Given the description of an element on the screen output the (x, y) to click on. 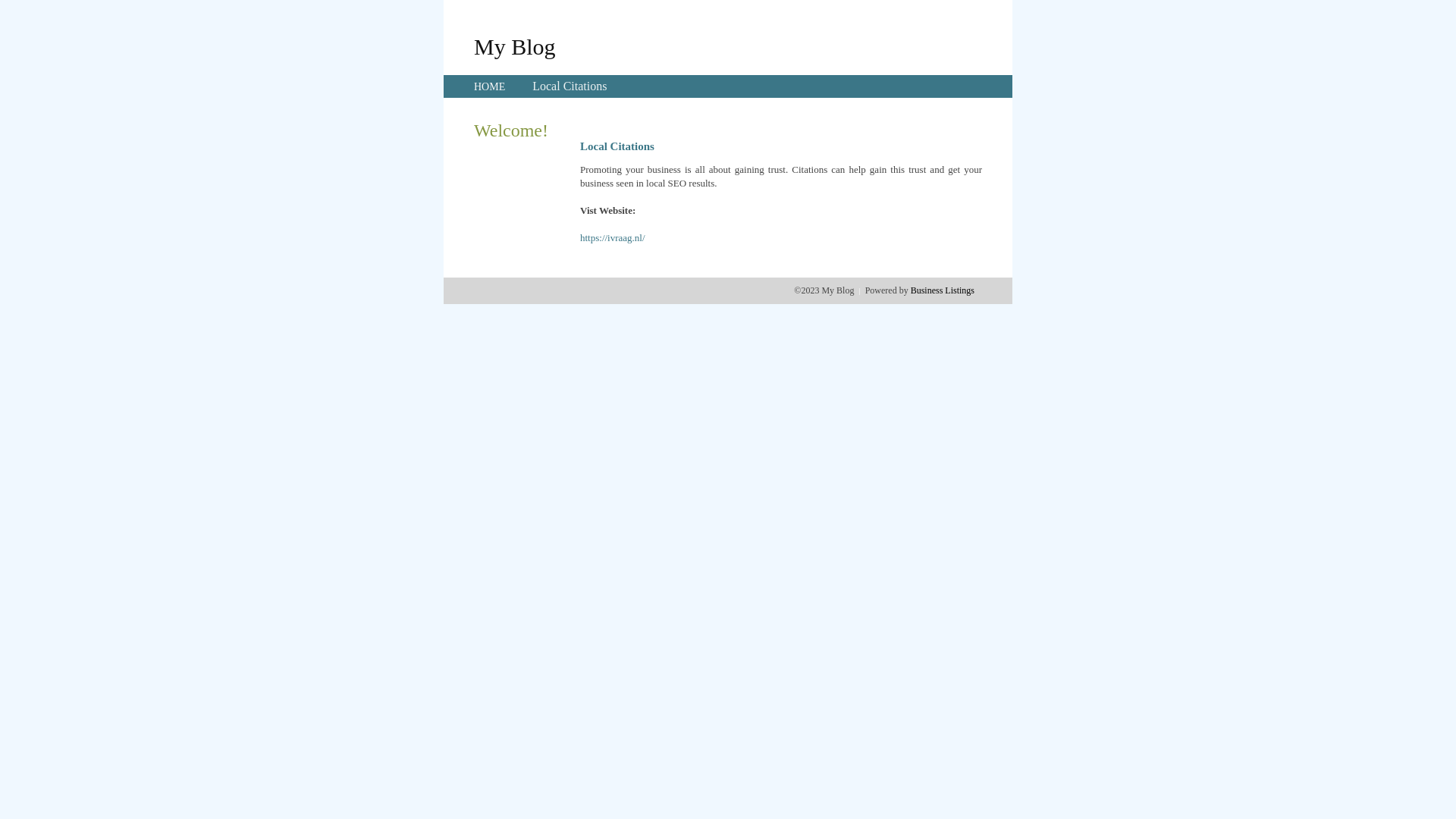
My Blog Element type: text (514, 46)
https://ivraag.nl/ Element type: text (612, 237)
Local Citations Element type: text (569, 85)
HOME Element type: text (489, 86)
Business Listings Element type: text (942, 290)
